Given the description of an element on the screen output the (x, y) to click on. 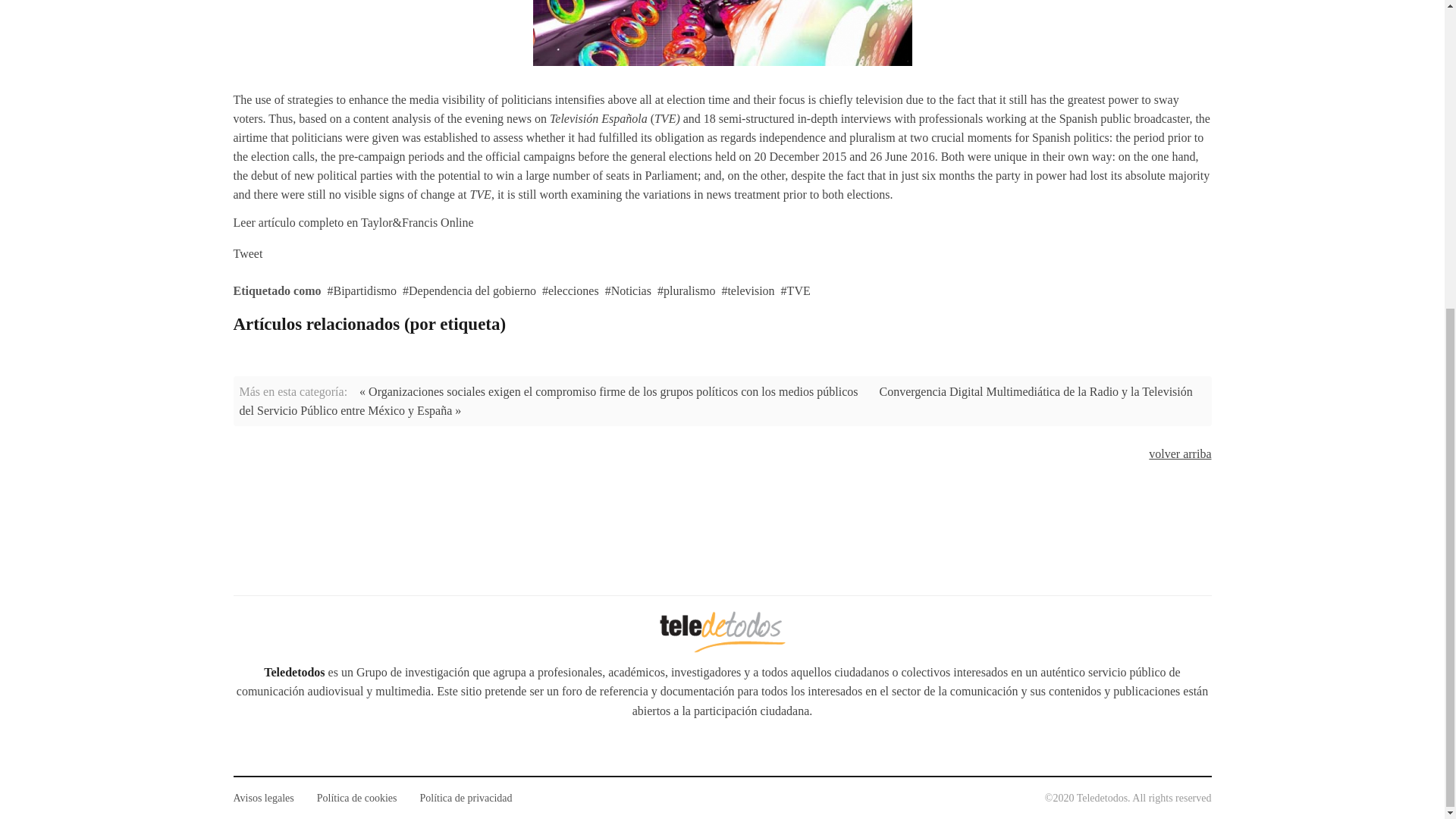
Dependencia del gobierno (469, 290)
elecciones (569, 290)
Bipartidismo (362, 290)
Tweet (247, 253)
